Given the description of an element on the screen output the (x, y) to click on. 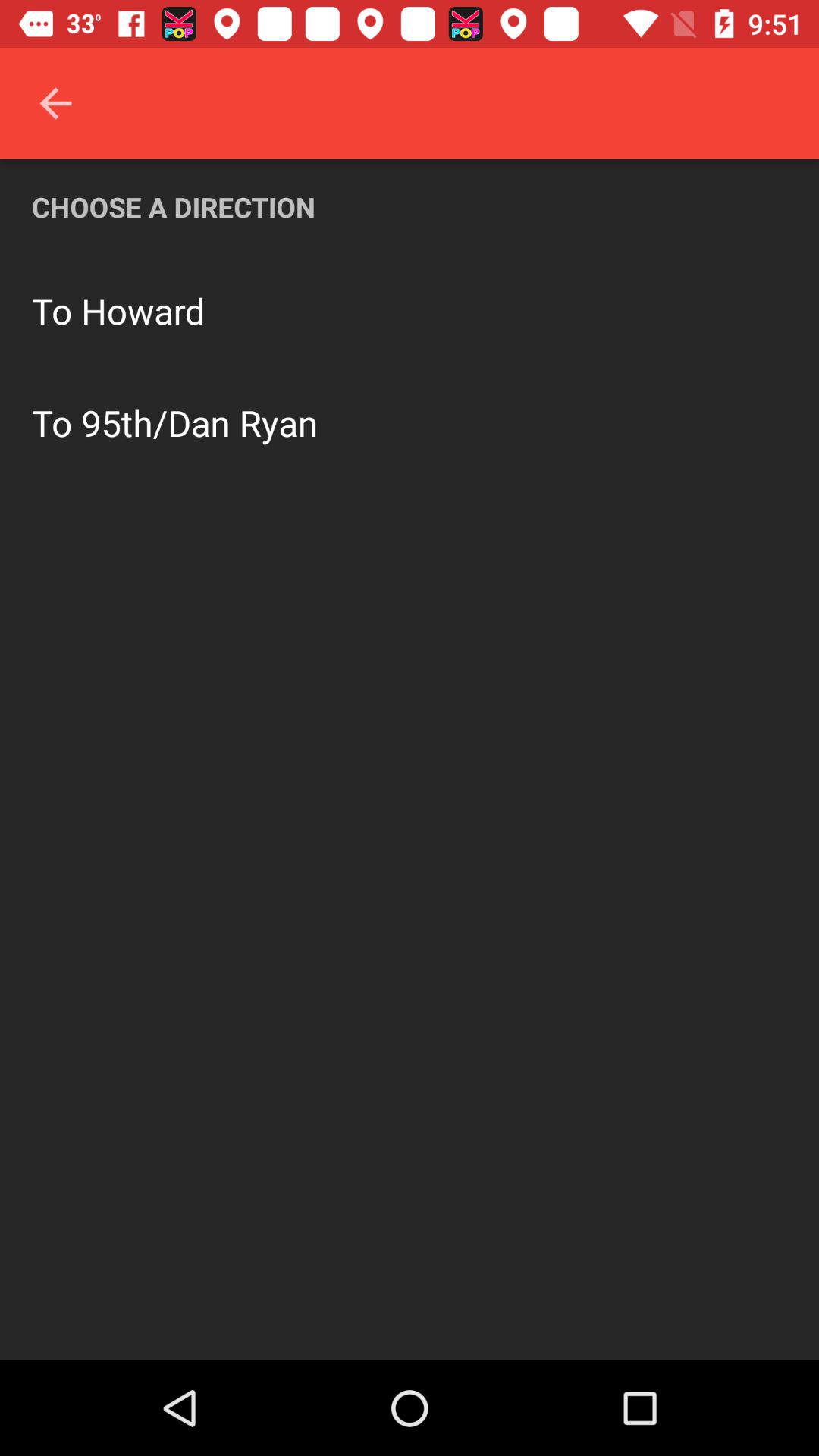
choose icon above the choose a direction icon (55, 103)
